Given the description of an element on the screen output the (x, y) to click on. 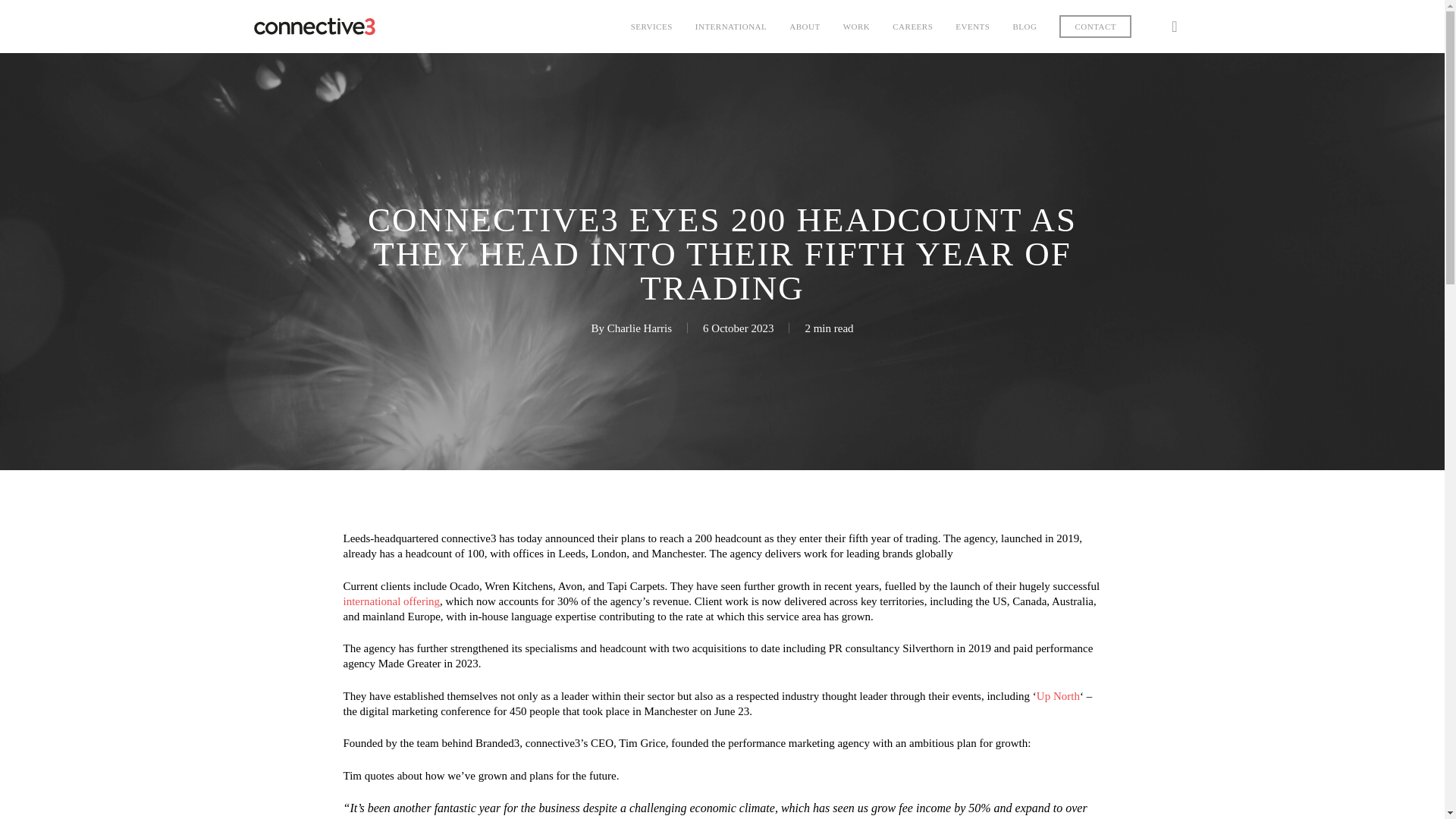
ABOUT (804, 26)
SERVICES (651, 26)
INTERNATIONAL (731, 26)
Posts by Charlie Harris (639, 327)
